Given the description of an element on the screen output the (x, y) to click on. 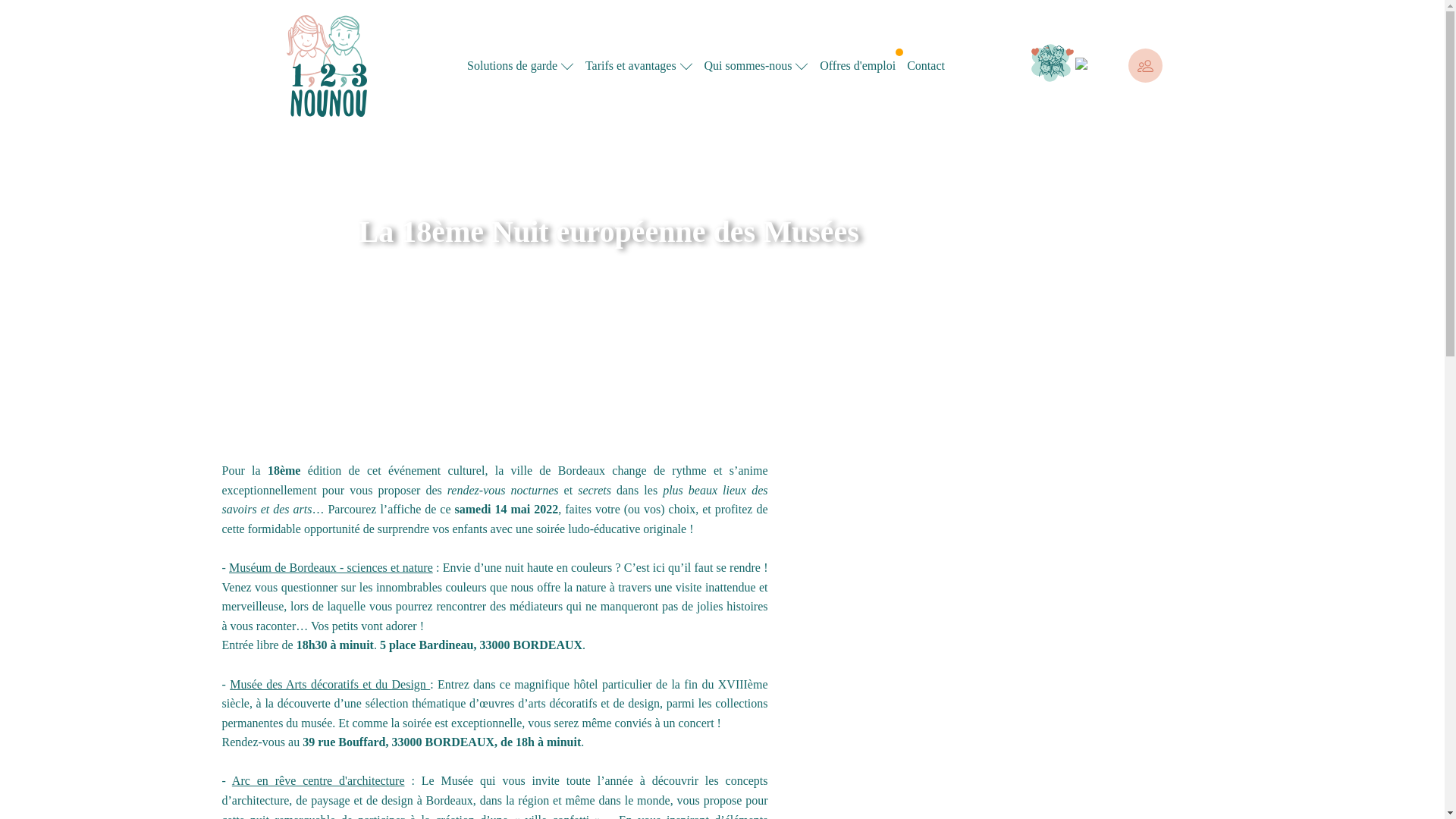
Solutions de garde Element type: text (520, 65)
Tarifs et avantages Element type: text (639, 65)
Qui sommes-nous Element type: text (755, 65)
Contact Element type: text (925, 65)
Offres d'emploi Element type: text (857, 65)
